Given the description of an element on the screen output the (x, y) to click on. 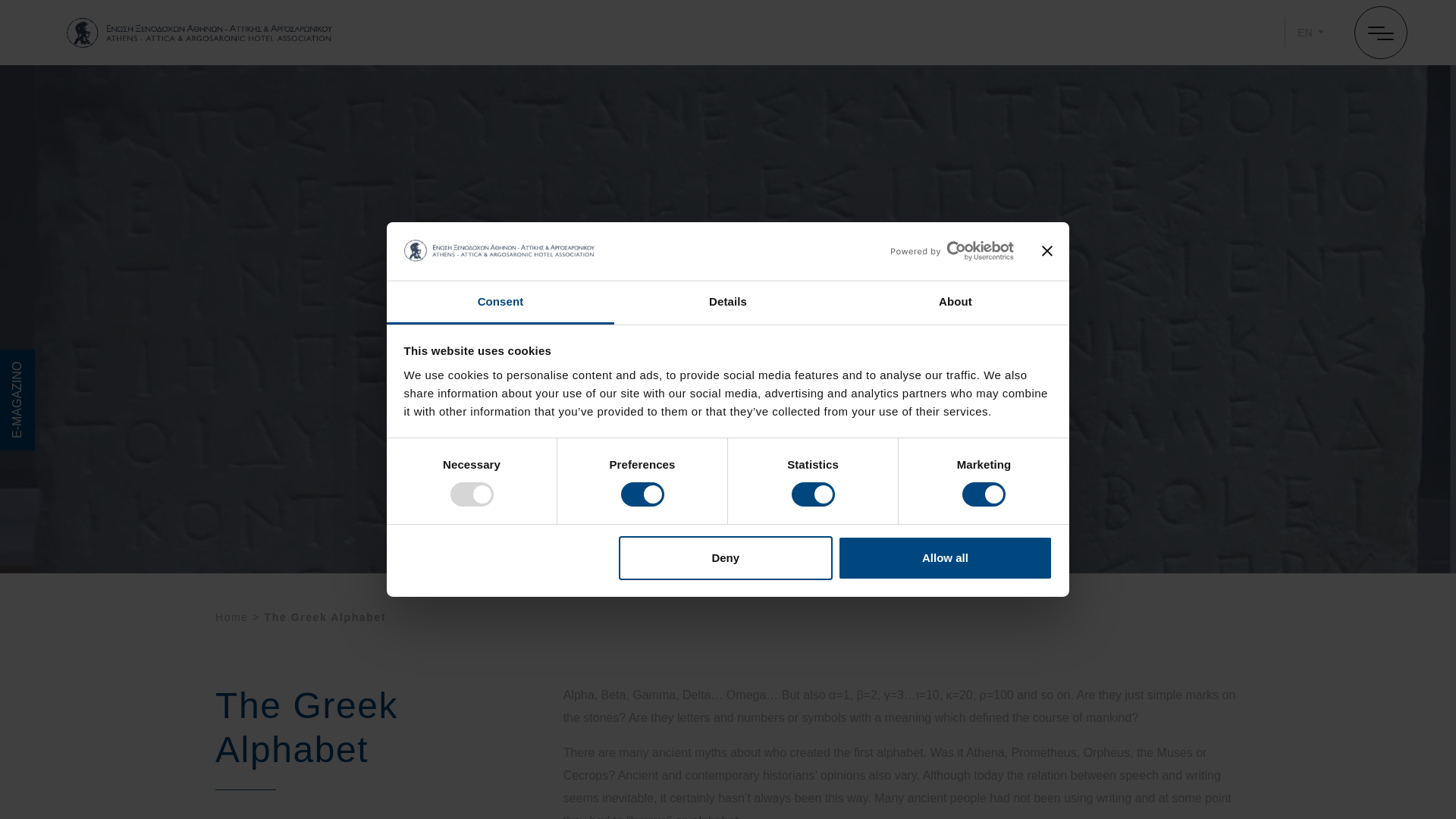
Consent (500, 302)
Allow all (944, 557)
Details (727, 302)
About (954, 302)
EN (1310, 32)
Deny (725, 557)
